Given the description of an element on the screen output the (x, y) to click on. 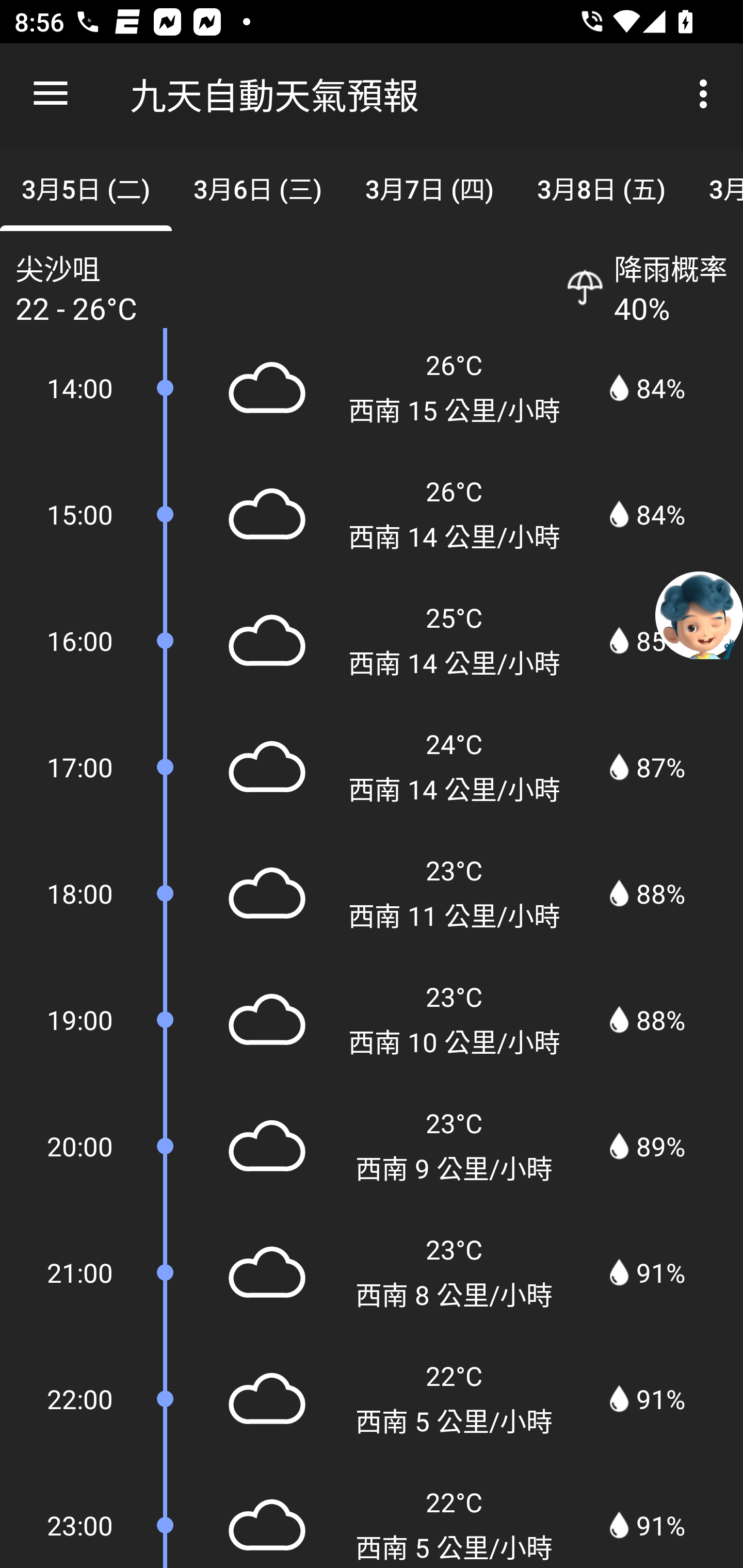
向上瀏覽 (50, 93)
更多選項 (706, 93)
3月6日 (三) (257, 187)
3月7日 (四) (429, 187)
3月8日 (五) (601, 187)
聊天機械人 (699, 614)
